Given the description of an element on the screen output the (x, y) to click on. 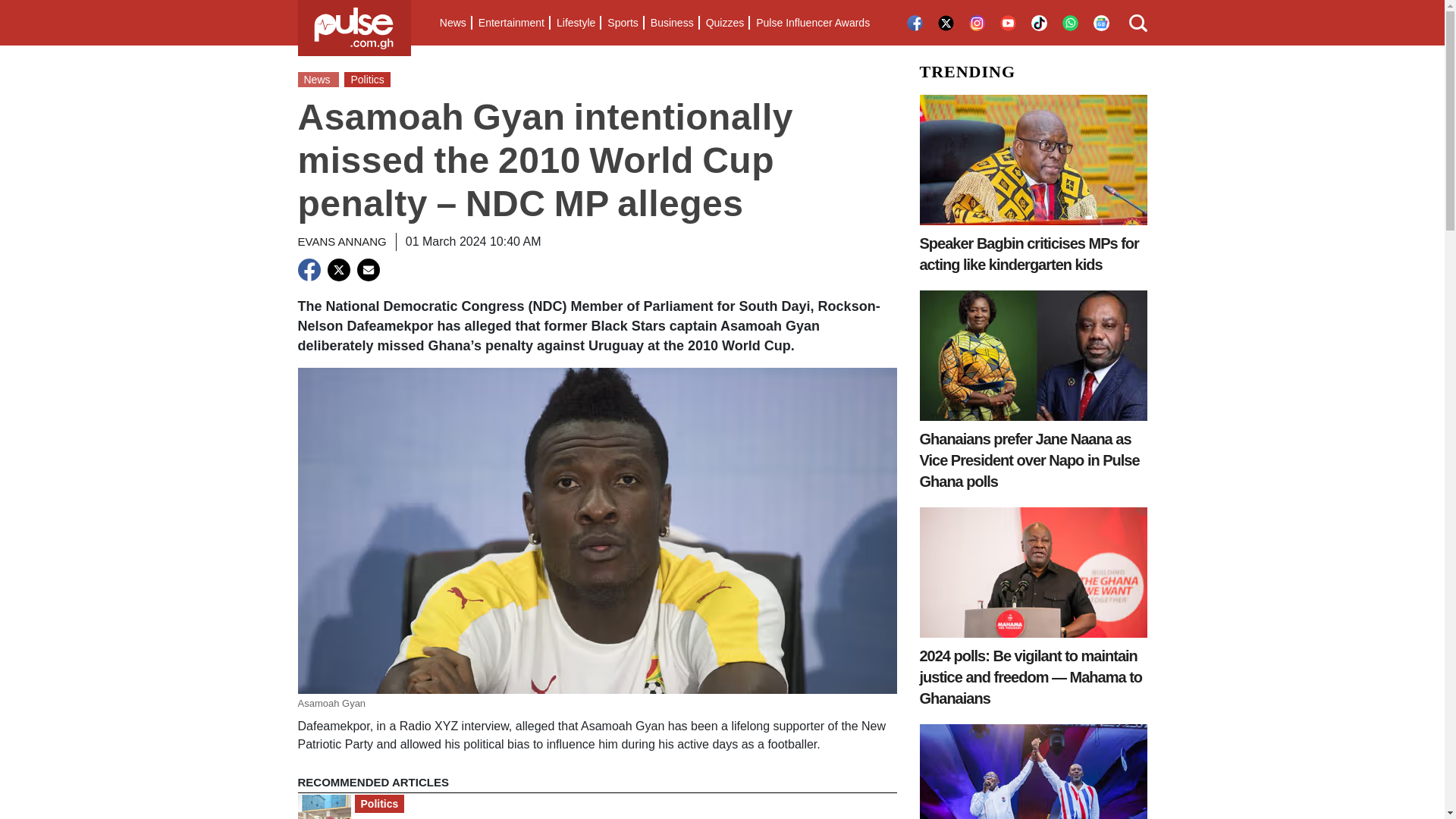
Lifestyle (575, 22)
Business (672, 22)
Entertainment (510, 22)
Sports (622, 22)
